Given the description of an element on the screen output the (x, y) to click on. 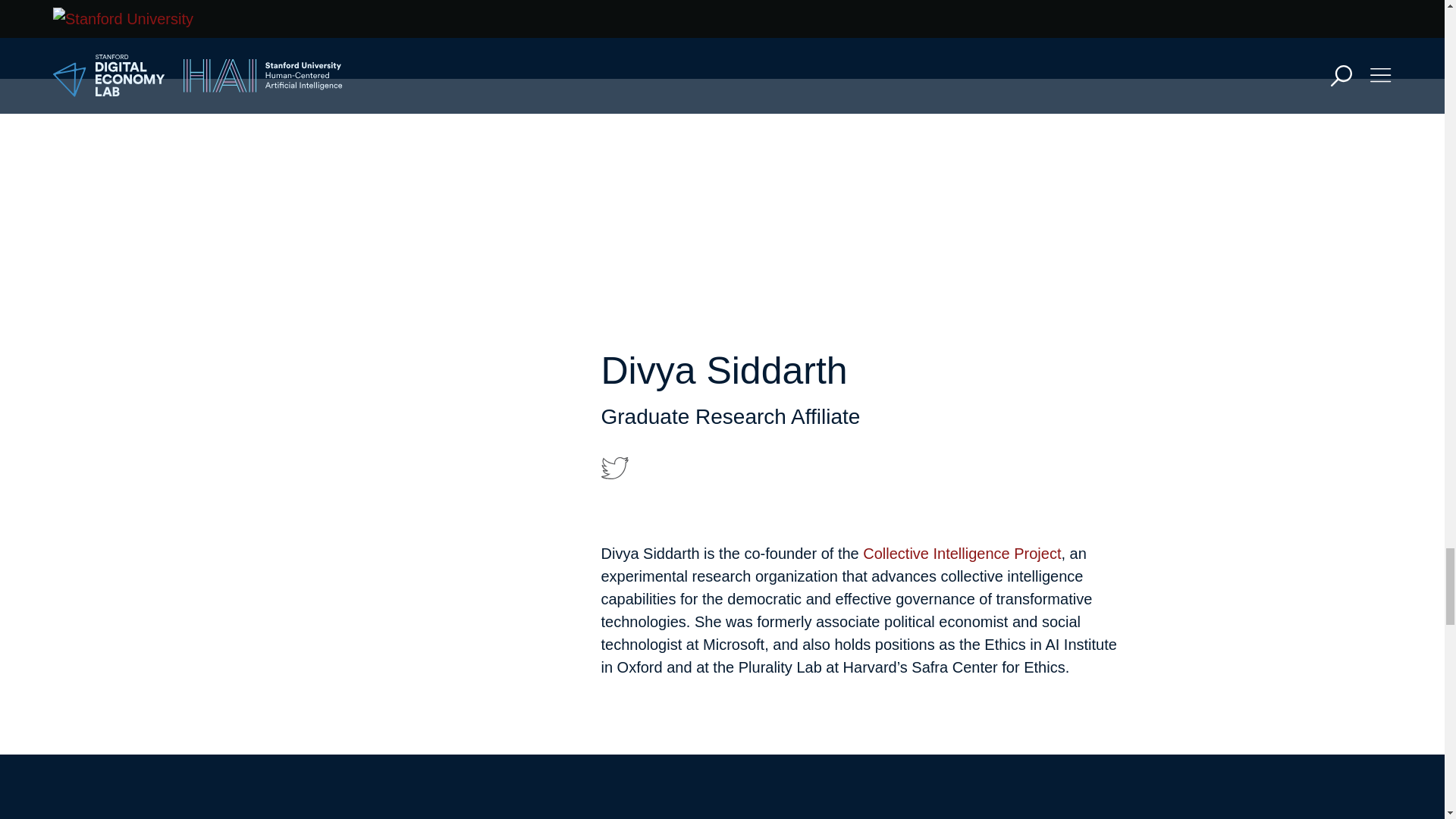
Back to People (670, 7)
Collective Intelligence Project (962, 553)
twitter (613, 467)
Back to People (670, 787)
